Given the description of an element on the screen output the (x, y) to click on. 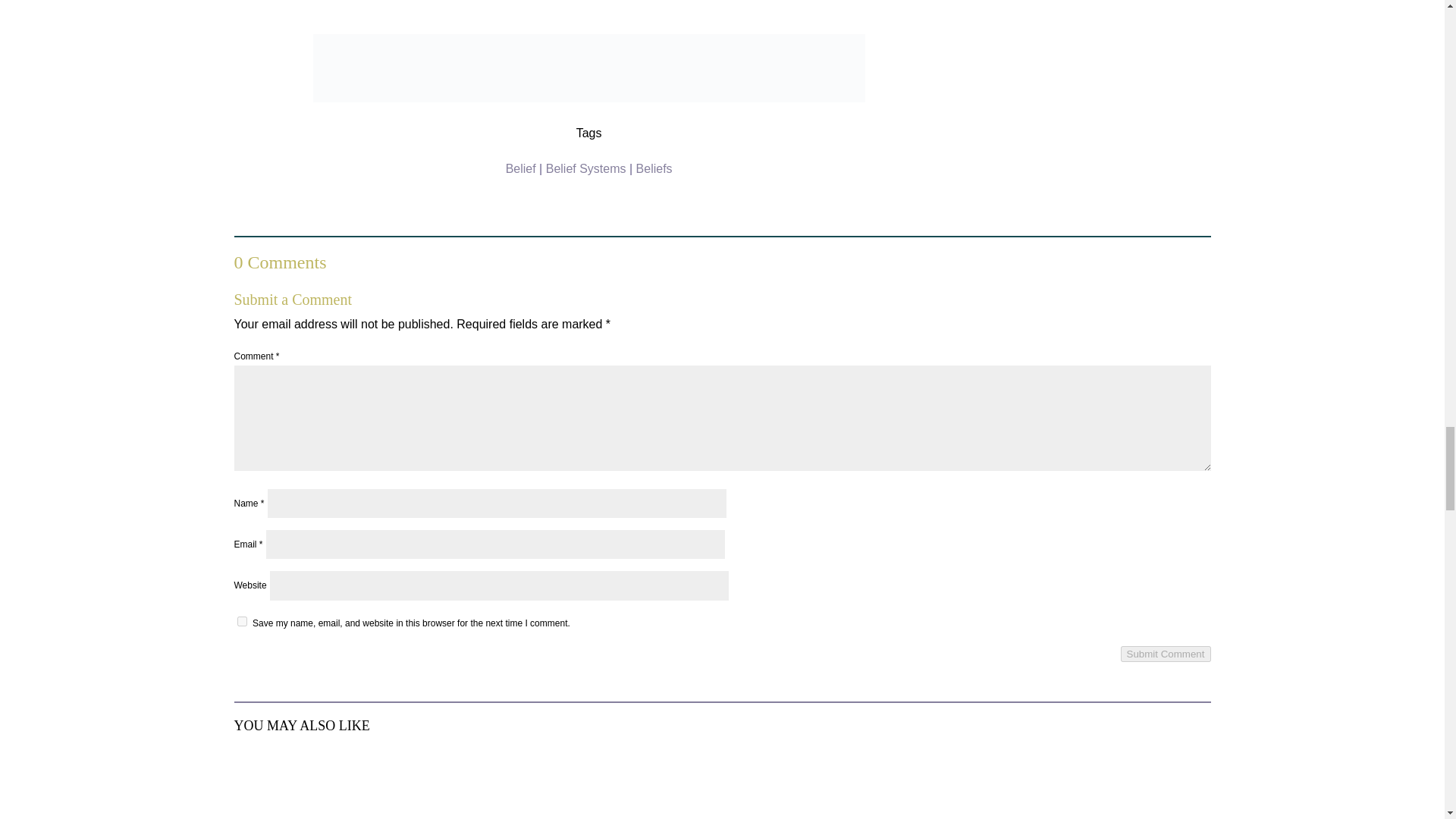
Belief (520, 168)
Belief Systems (586, 168)
Beliefs (654, 168)
yes (240, 621)
